Given the description of an element on the screen output the (x, y) to click on. 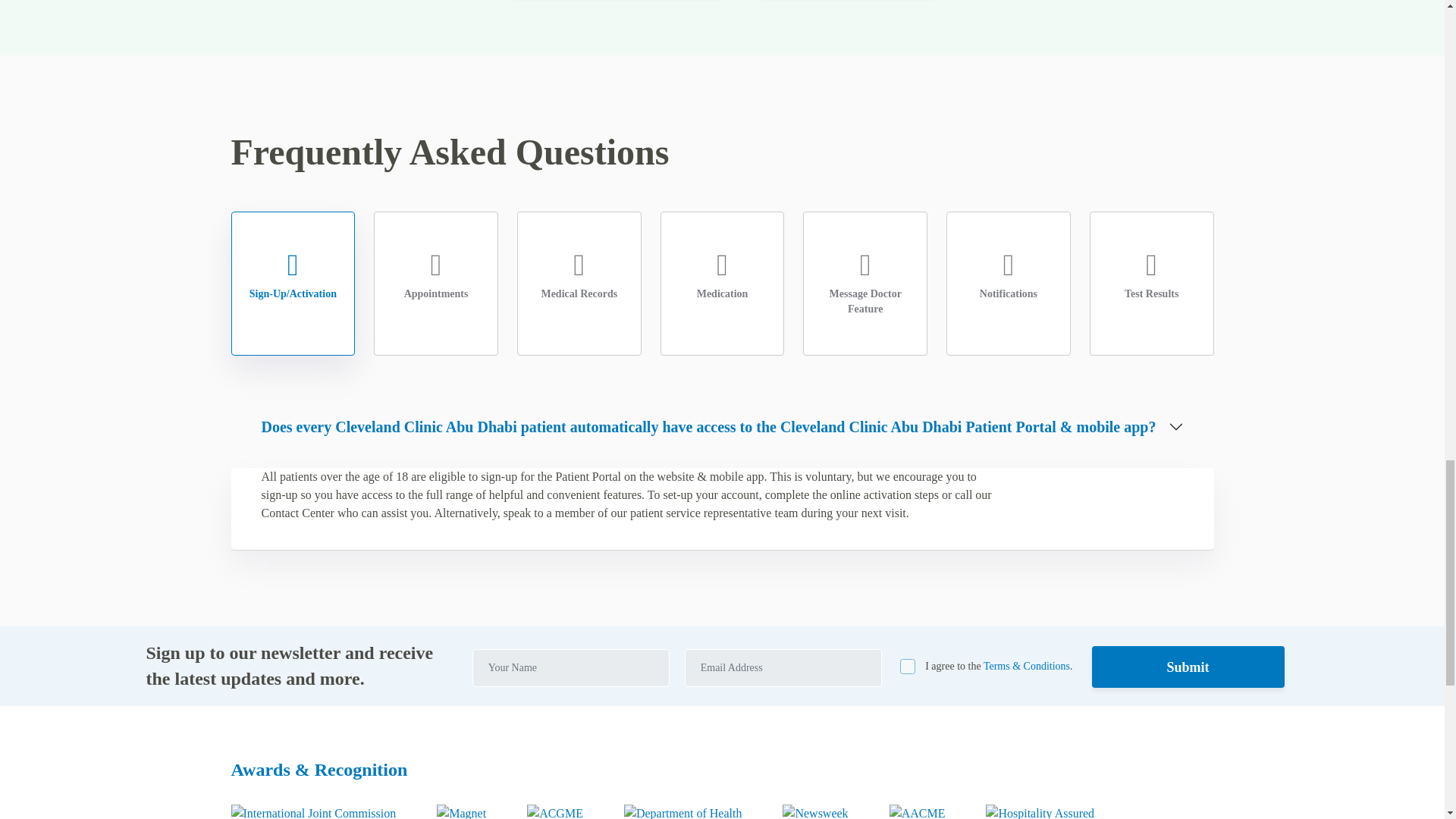
Submit (1188, 666)
true (907, 666)
